Given the description of an element on the screen output the (x, y) to click on. 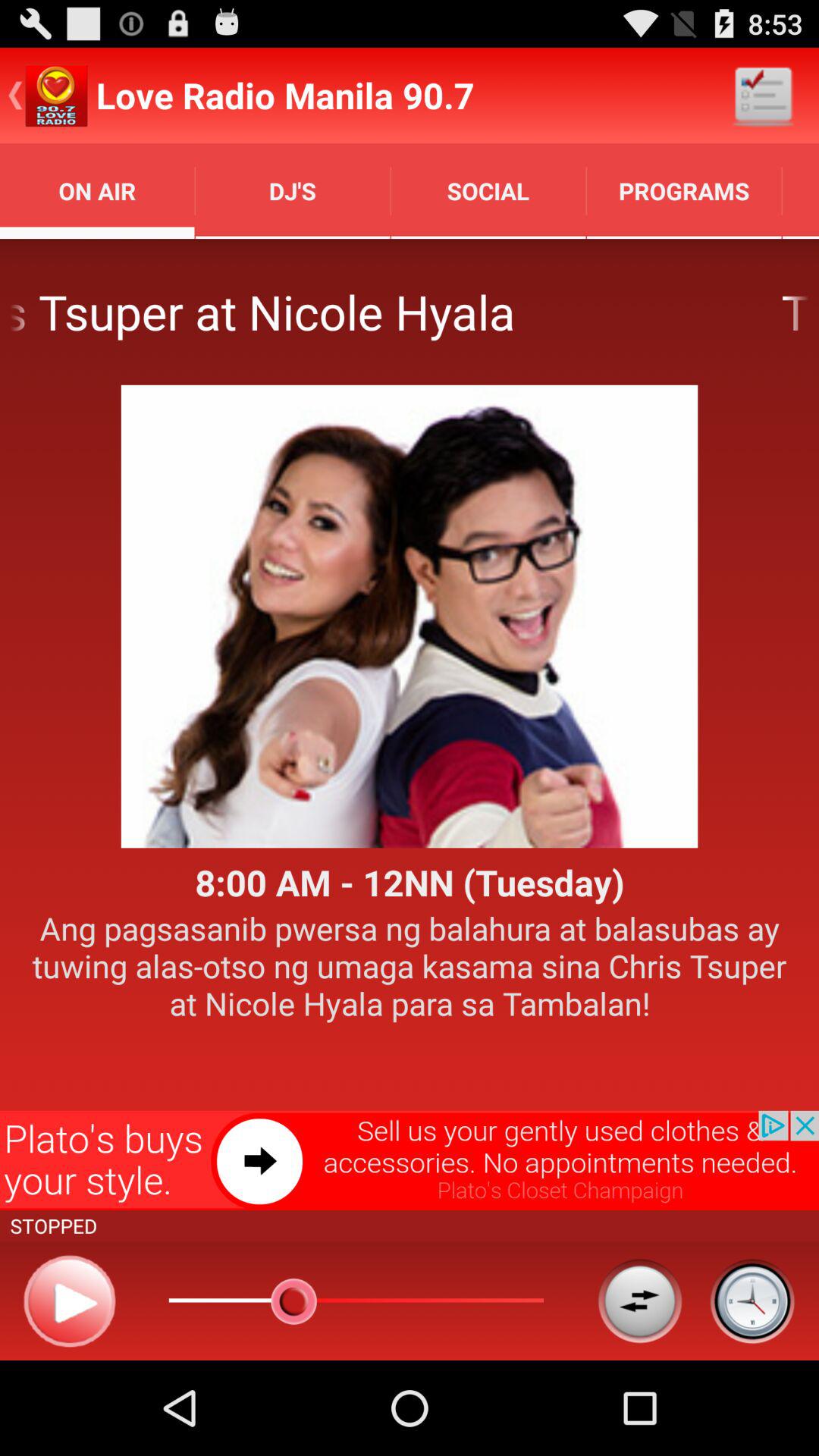
turn off the icon next to the love radio manila icon (763, 95)
